Given the description of an element on the screen output the (x, y) to click on. 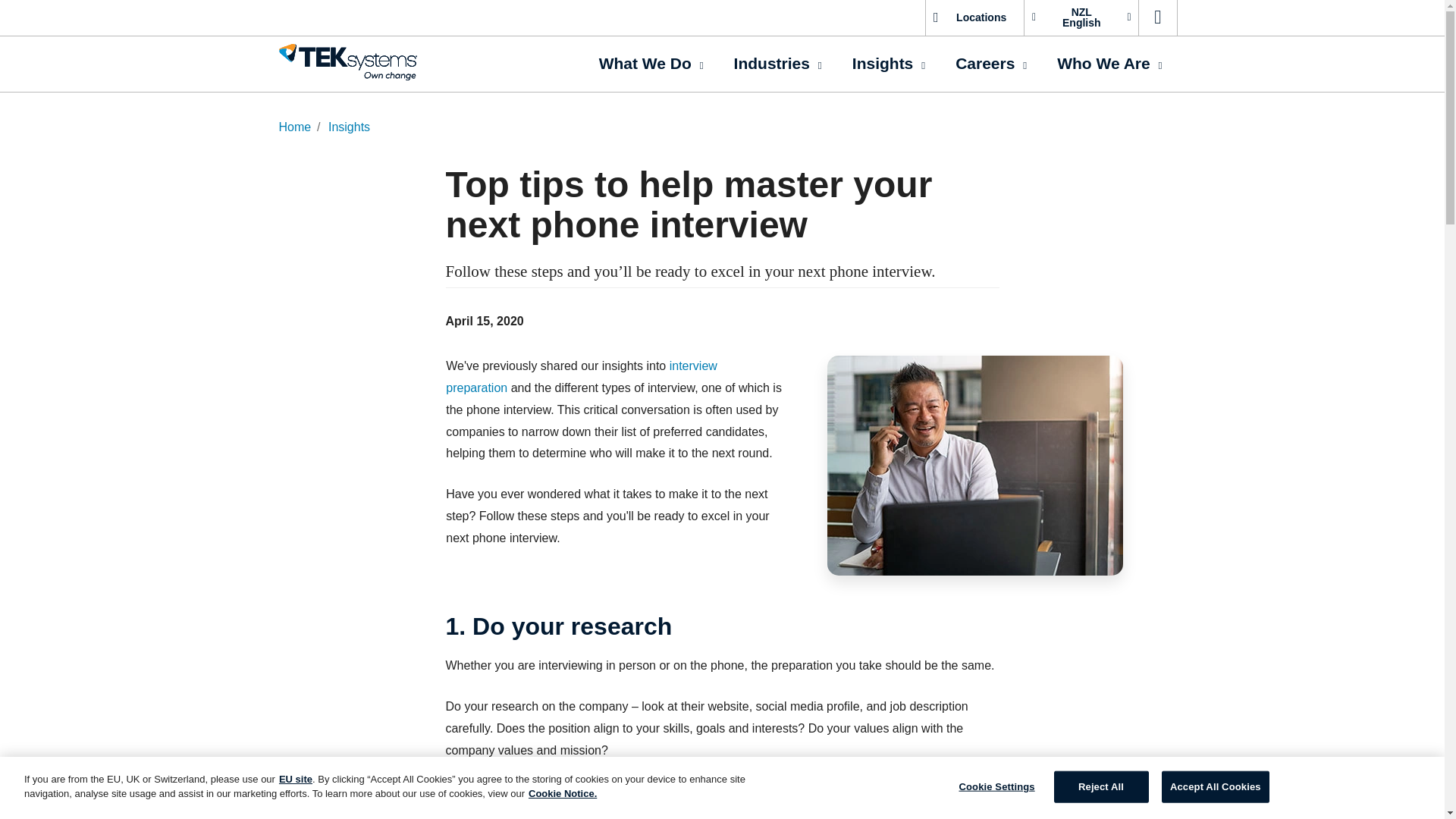
Locations (973, 18)
Search (1157, 18)
What We Do (651, 63)
